Given the description of an element on the screen output the (x, y) to click on. 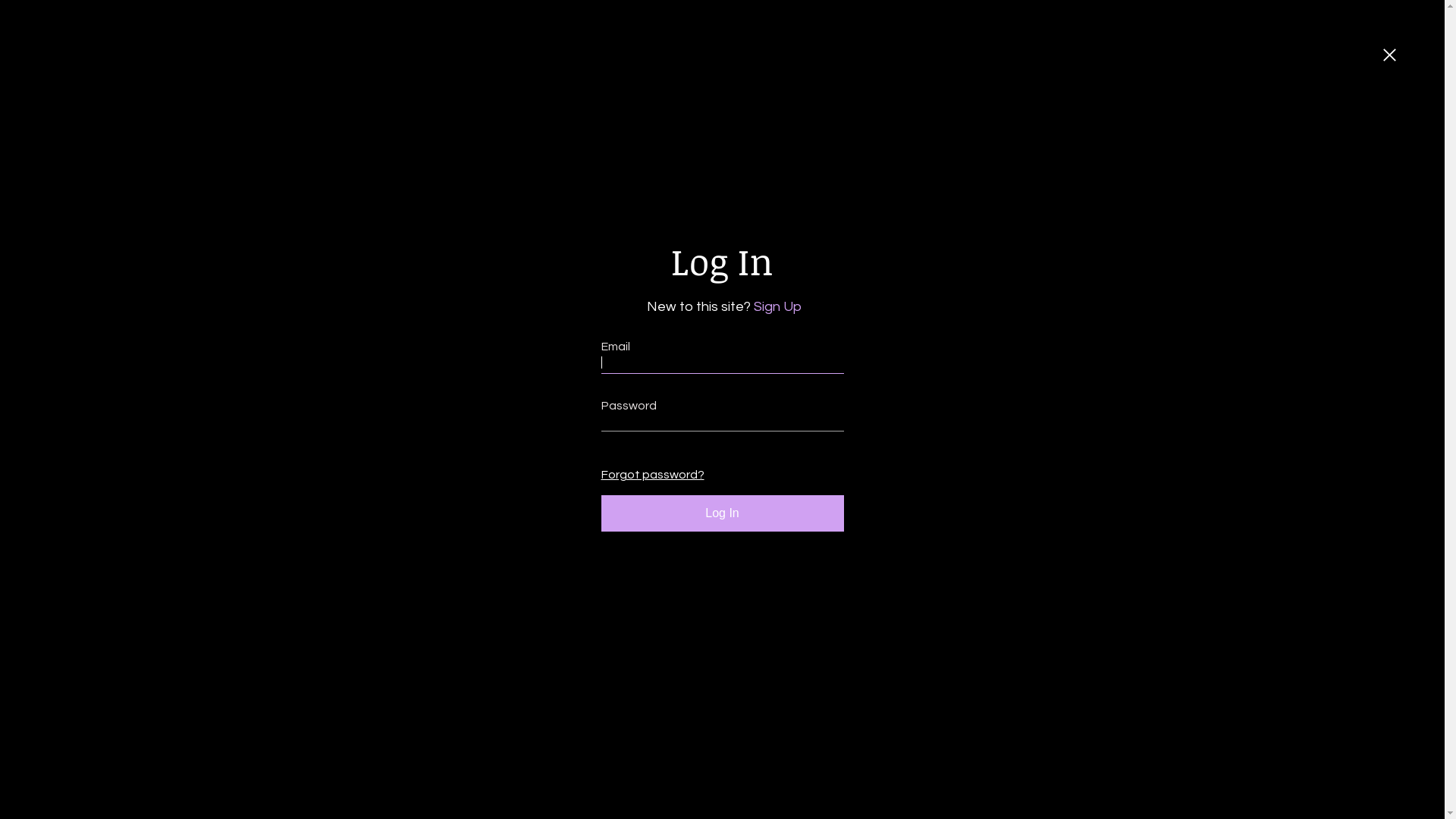
Log In Element type: text (721, 513)
Forgot password? Element type: text (648, 474)
Sign Up Element type: text (774, 306)
